Given the description of an element on the screen output the (x, y) to click on. 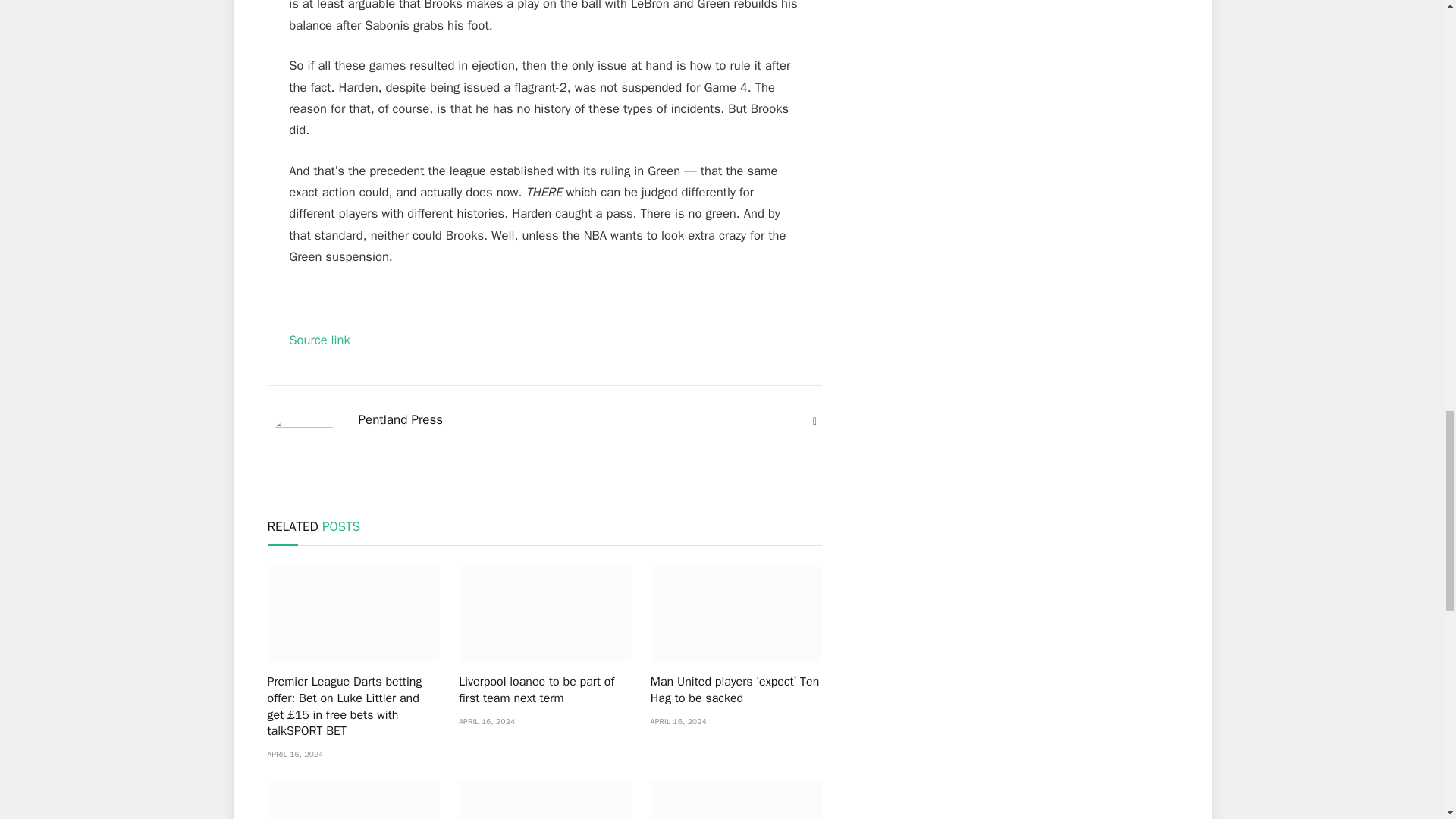
Posts by Pentland Press (400, 419)
Website (814, 421)
Liverpool loanee to be part of first team next term (544, 613)
Pentland Press (400, 419)
Source link (319, 340)
Website (814, 421)
